Given the description of an element on the screen output the (x, y) to click on. 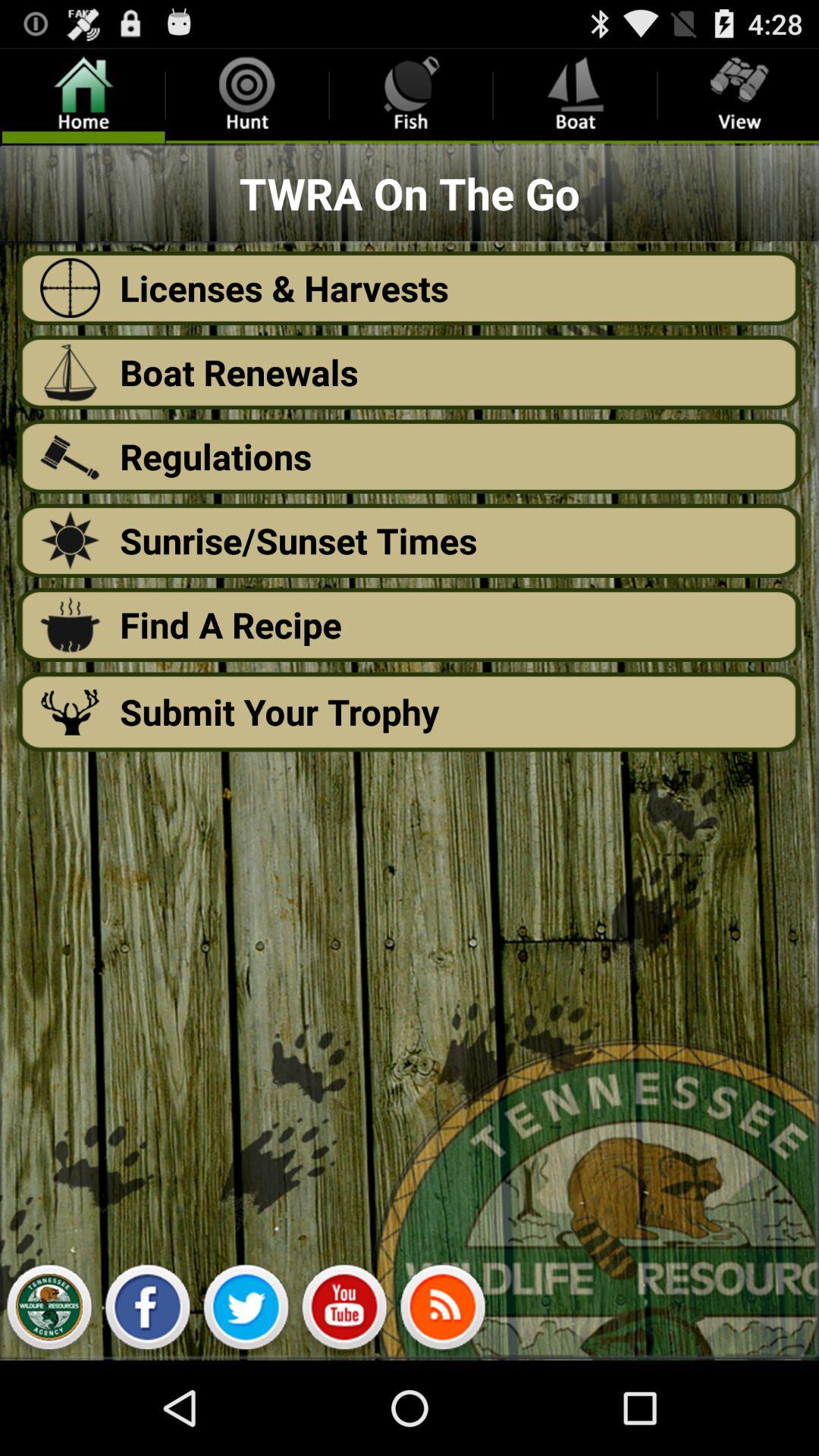
click to wifi button (442, 1311)
